Given the description of an element on the screen output the (x, y) to click on. 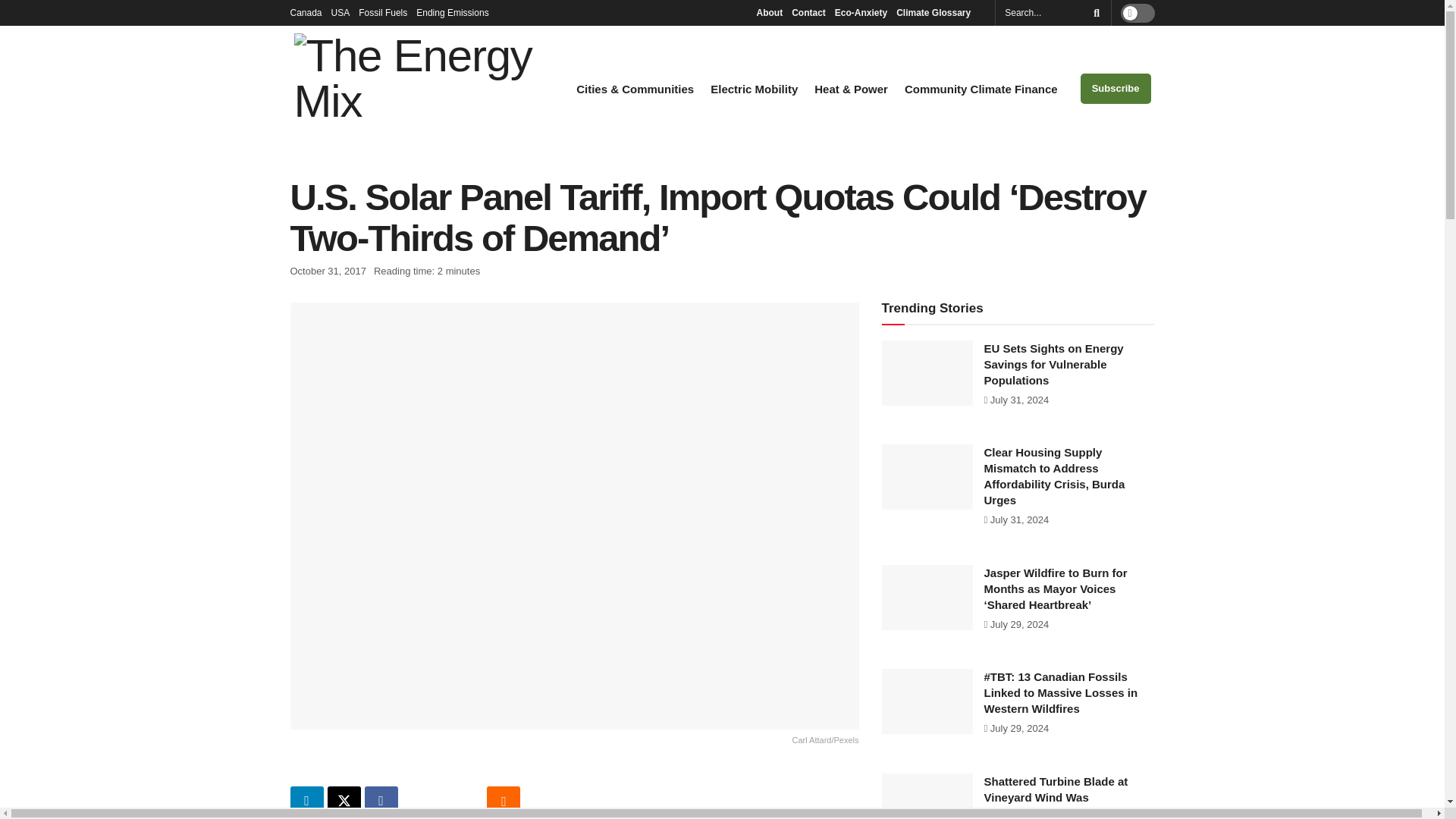
Climate Glossary (937, 12)
Contact (808, 12)
Eco-Anxiety (860, 12)
Electric Mobility (753, 89)
Ending Emissions (456, 12)
October 31, 2017 (327, 270)
Community Climate Finance (981, 89)
About (769, 12)
Fossil Fuels (382, 12)
Canada (305, 12)
Subscribe (1115, 88)
